Given the description of an element on the screen output the (x, y) to click on. 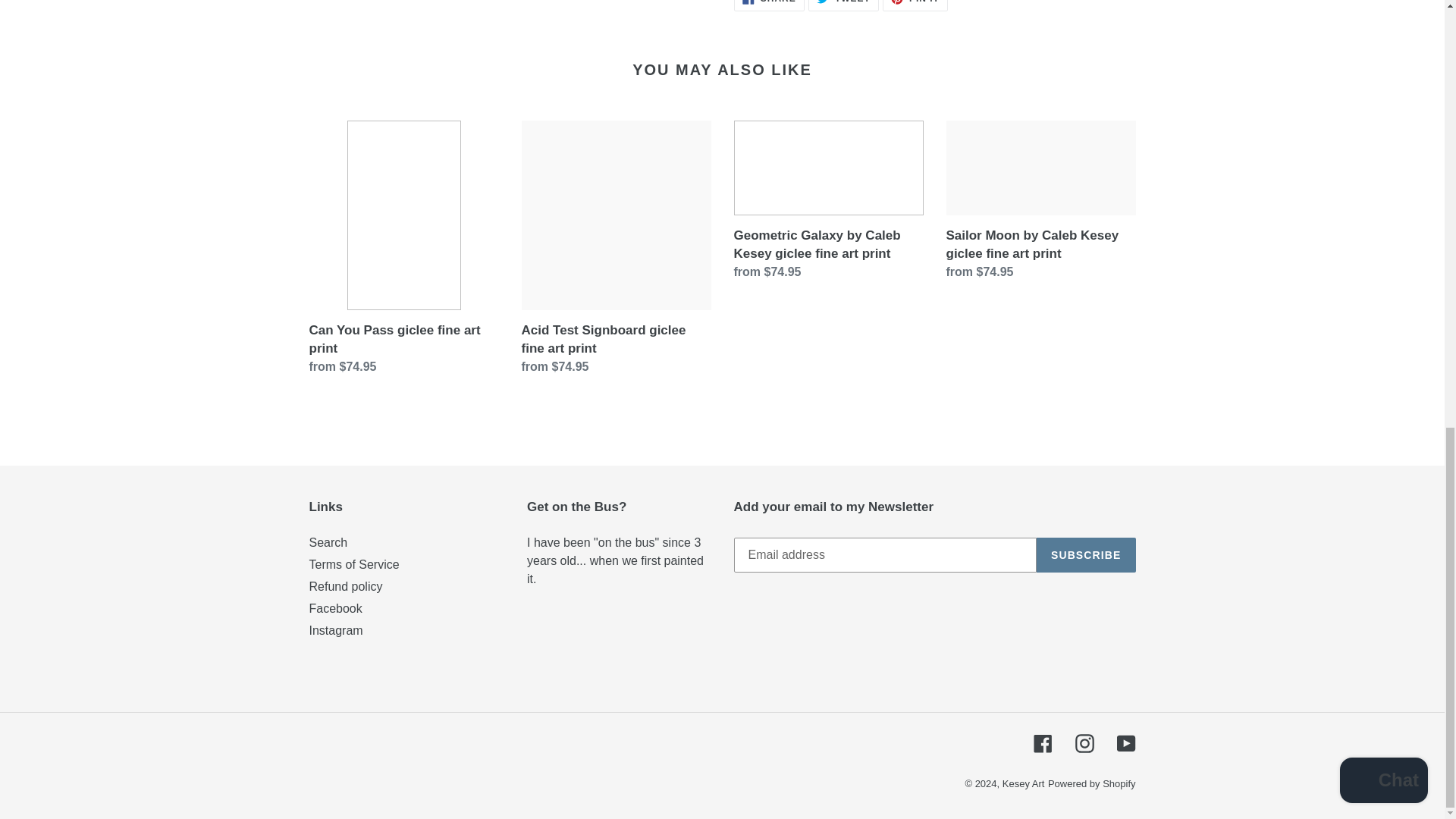
Powered by Shopify (1091, 783)
Facebook (1041, 742)
Facebook (335, 608)
SUBSCRIBE (1085, 554)
Instagram (843, 5)
Geometric Galaxy by Caleb Kesey giclee fine art print (335, 630)
Kesey Art (914, 5)
